Given the description of an element on the screen output the (x, y) to click on. 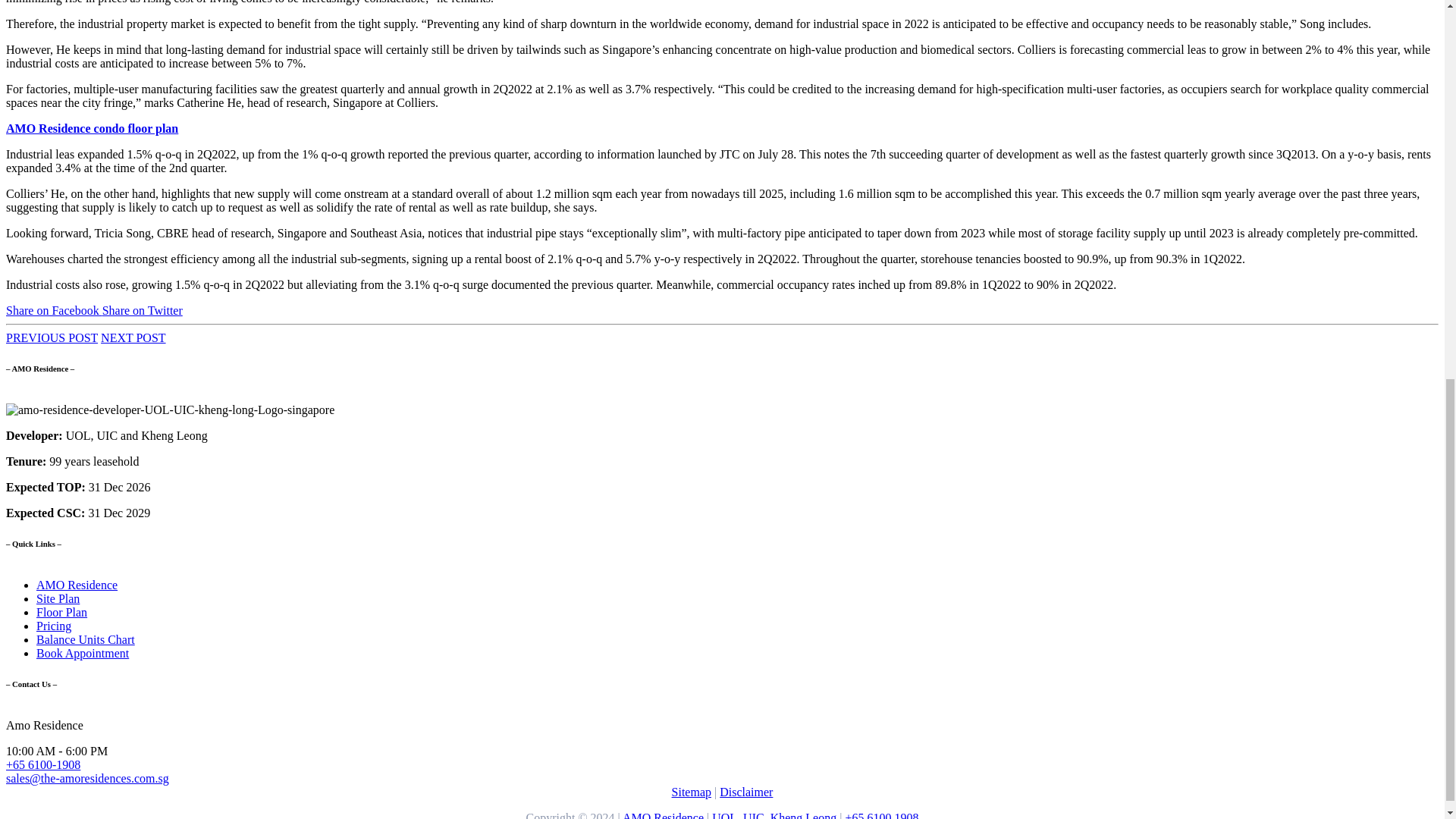
AMO Residence condo floor plan (91, 128)
Site Plan (58, 598)
Floor Plan (61, 612)
NEXT POST (132, 337)
PREVIOUS POST (51, 337)
AMO Residence (76, 584)
Share on Facebook (53, 309)
Share on Twitter (142, 309)
Pricing (53, 625)
